Given the description of an element on the screen output the (x, y) to click on. 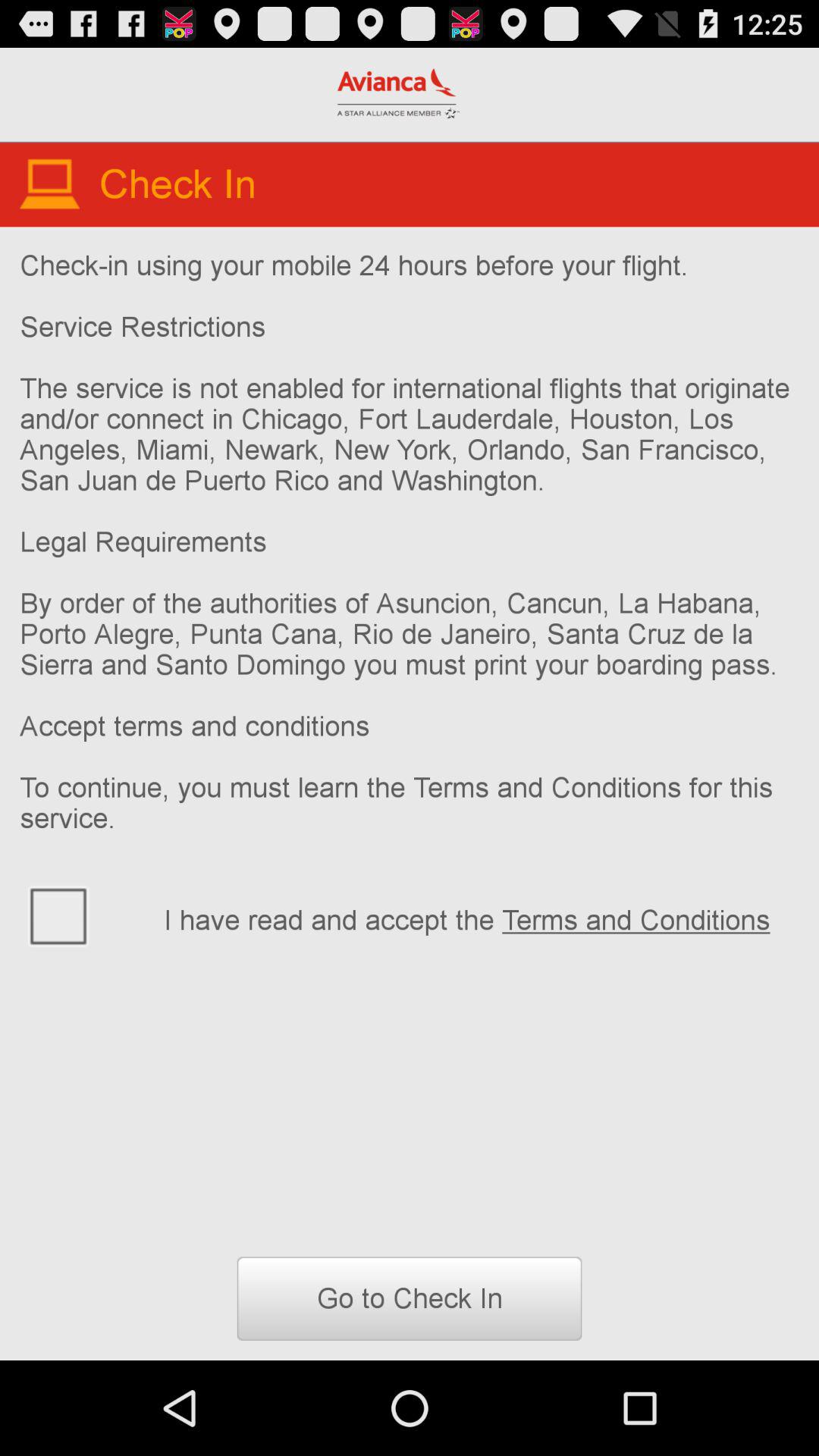
choose the icon to the left of the i have read app (81, 914)
